Given the description of an element on the screen output the (x, y) to click on. 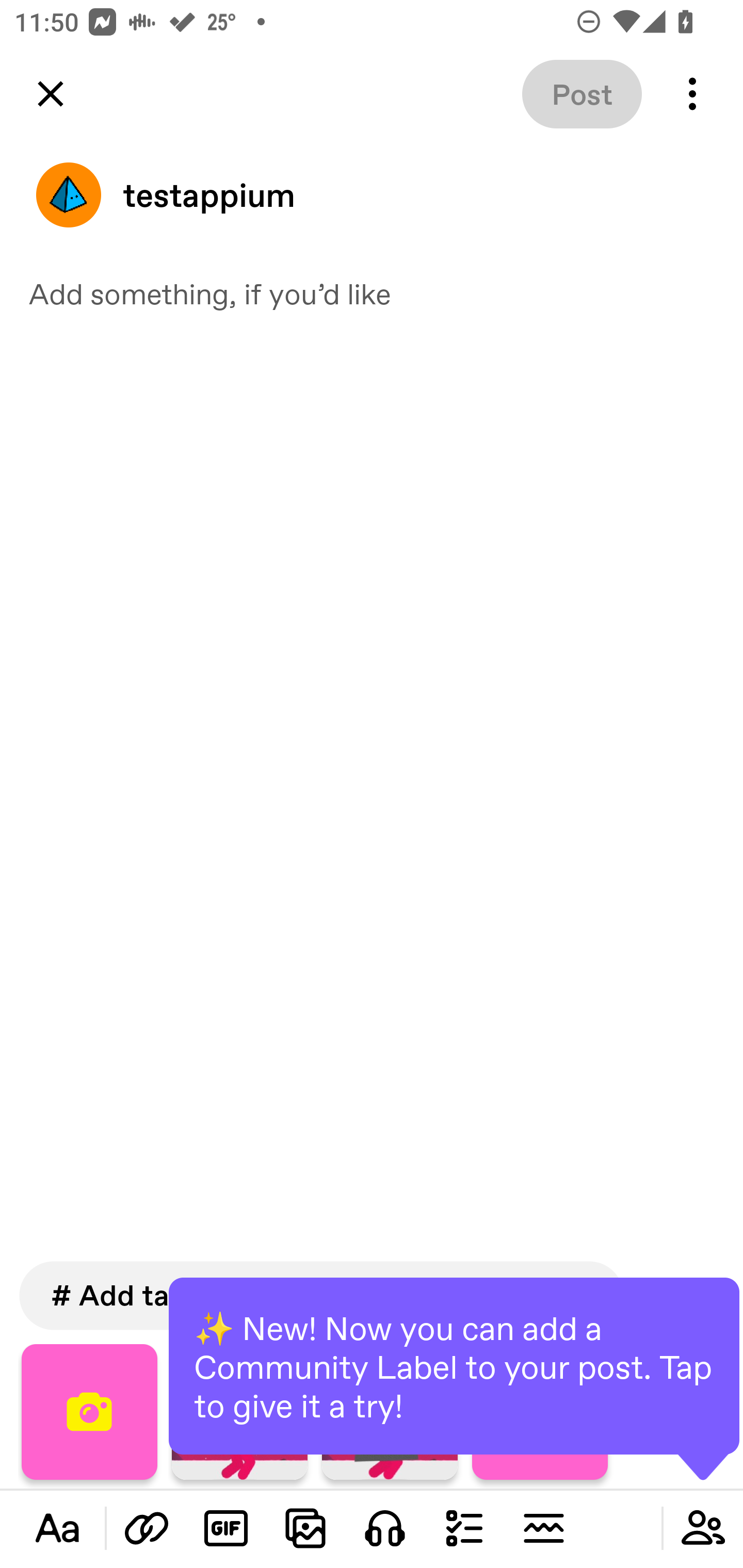
Navigate up (50, 93)
Post (581, 93)
Blog Selector testappium (371, 195)
Add something, if you’d like (371, 293)
Add text to post (57, 1528)
Add text to post (146, 1528)
Add GIF to post (225, 1528)
Add Photo to post (305, 1528)
Add Audio to post (384, 1528)
Add Poll to post (463, 1528)
Add read-more link to post (543, 1528)
Add community label for post (703, 1528)
